Given the description of an element on the screen output the (x, y) to click on. 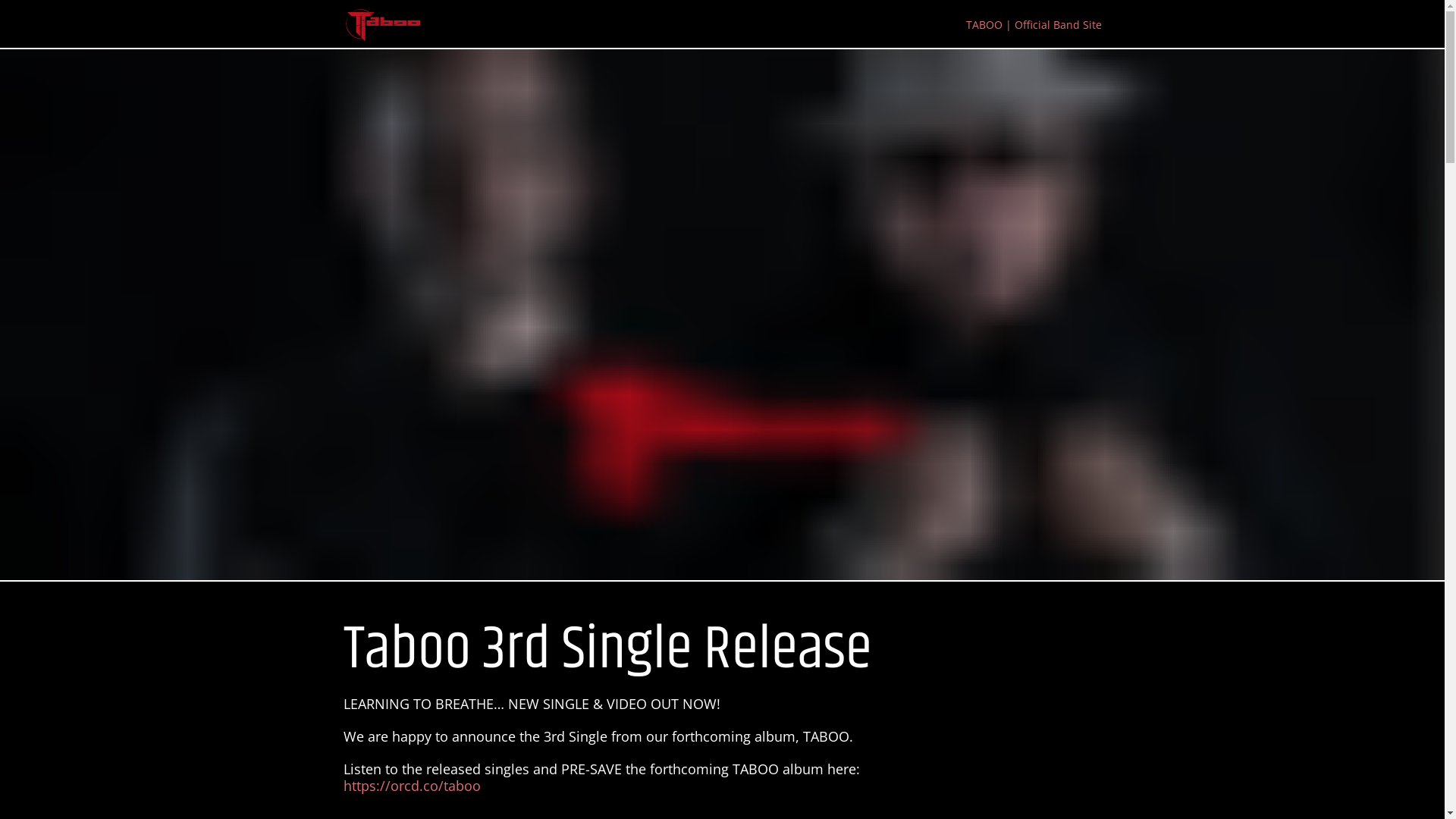
TABOO | Official Band Site Element type: text (1033, 24)
https://orcd.co/taboo Element type: text (411, 785)
